Given the description of an element on the screen output the (x, y) to click on. 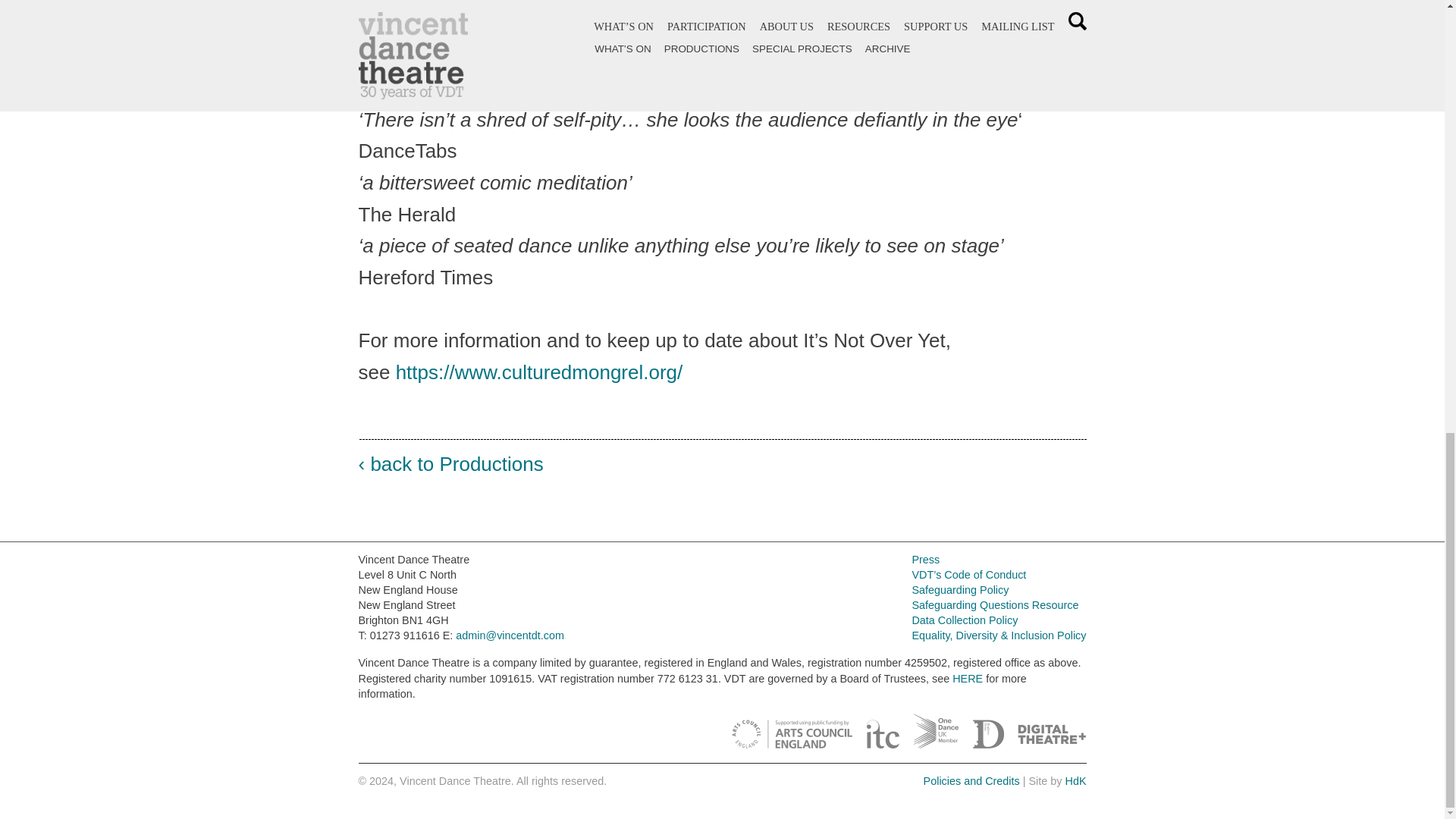
HERE (967, 678)
Press (925, 559)
Safeguarding Questions Resource (994, 604)
Safeguarding Policy (960, 589)
Data Collection Policy (964, 620)
